Given the description of an element on the screen output the (x, y) to click on. 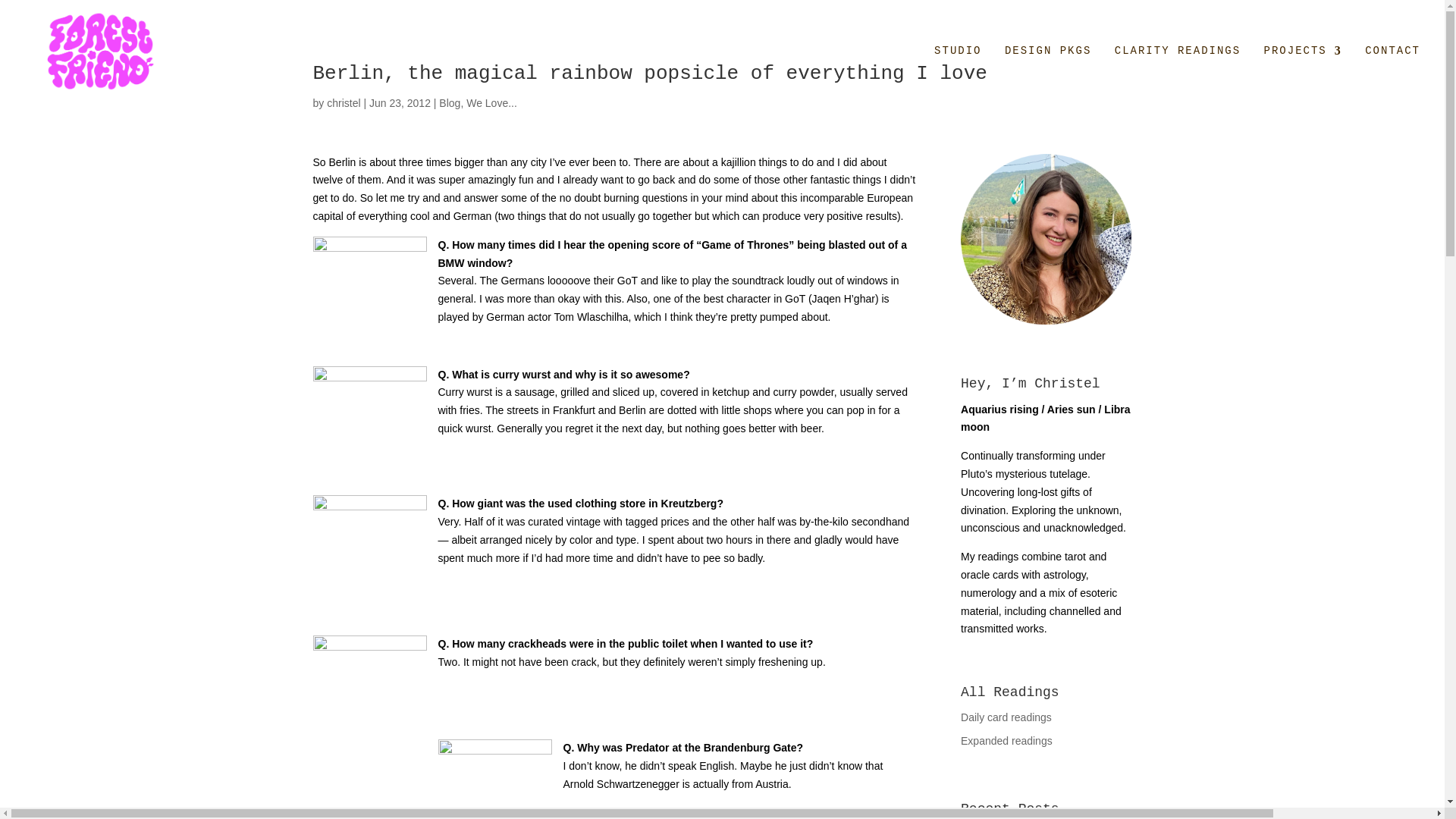
jaquen-hghar (369, 293)
Posts by christel (342, 102)
christel (342, 102)
Expanded readings (1006, 740)
CLARITY READINGS (1177, 73)
city-toilet (369, 692)
PROJECTS (1302, 73)
Blog (449, 102)
We Love... (490, 102)
kreuzberg-colours (369, 552)
